Given the description of an element on the screen output the (x, y) to click on. 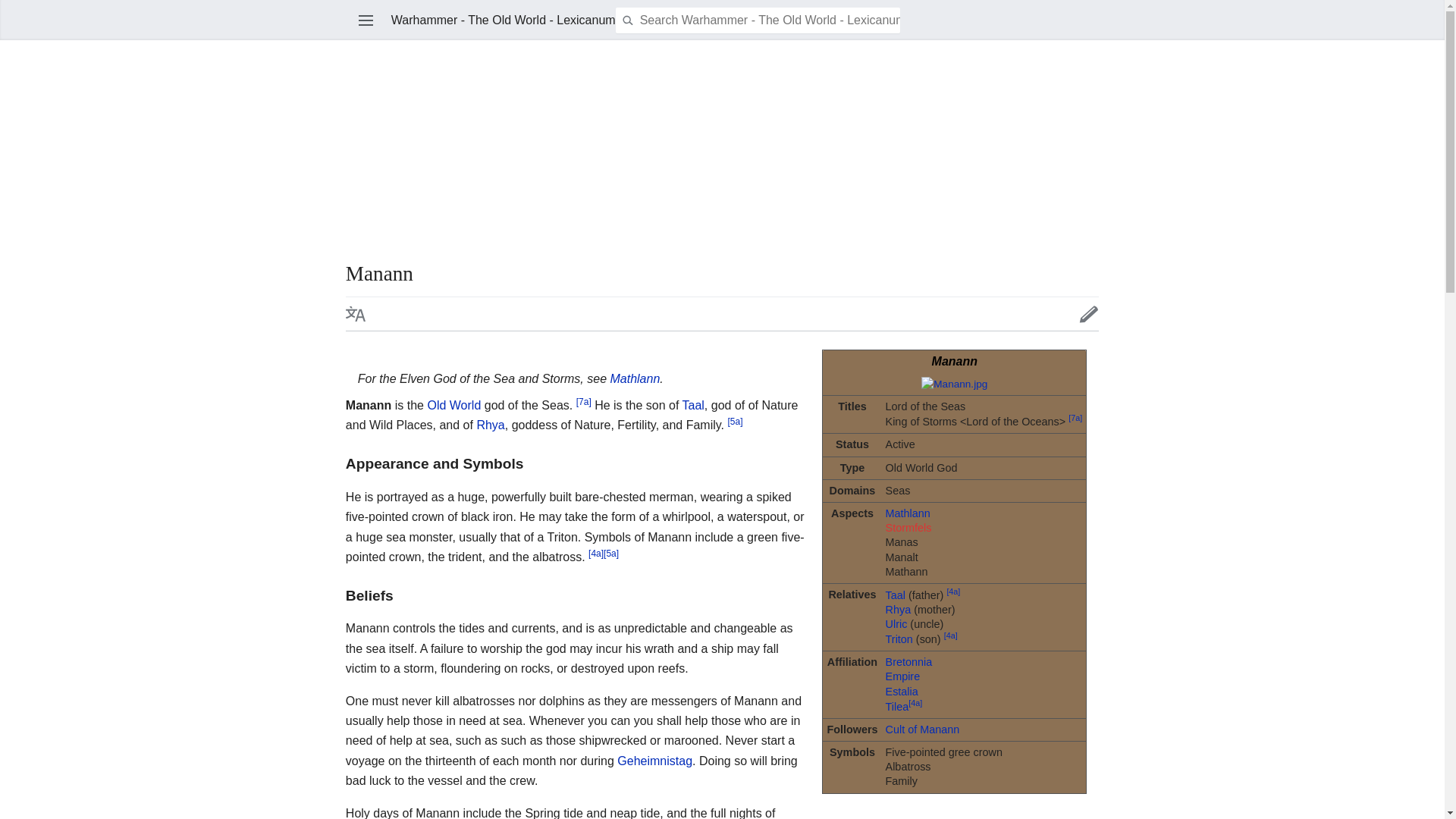
Geheimnistag (655, 760)
Cult of Manann (922, 729)
Estalia (901, 691)
Taal (895, 594)
Stormfels (908, 527)
Read in another language (354, 313)
Tilea (896, 706)
Tilea (896, 706)
Empire (902, 676)
Old World (453, 404)
